Given the description of an element on the screen output the (x, y) to click on. 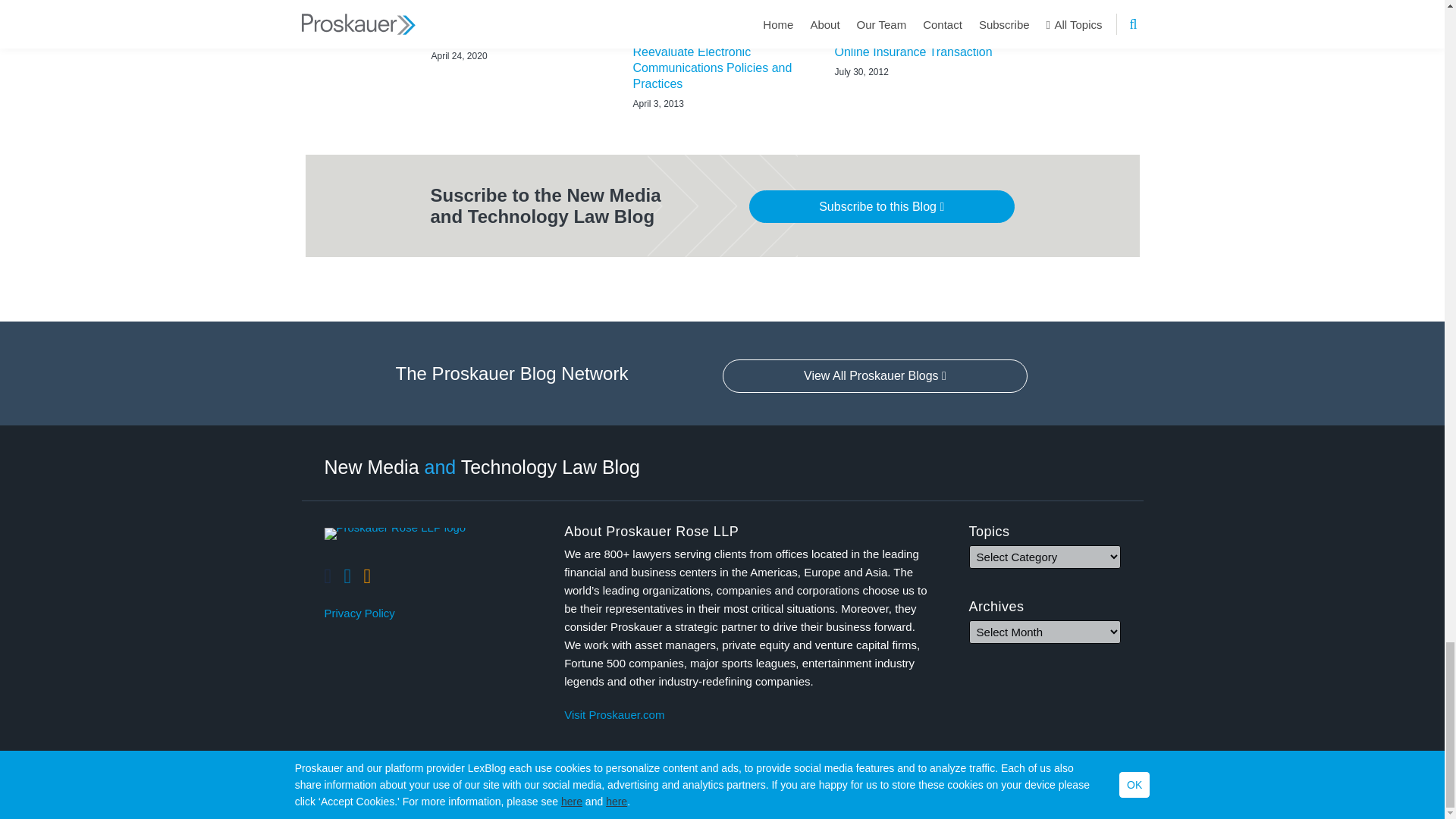
LexBlog Logo (1131, 793)
